Given the description of an element on the screen output the (x, y) to click on. 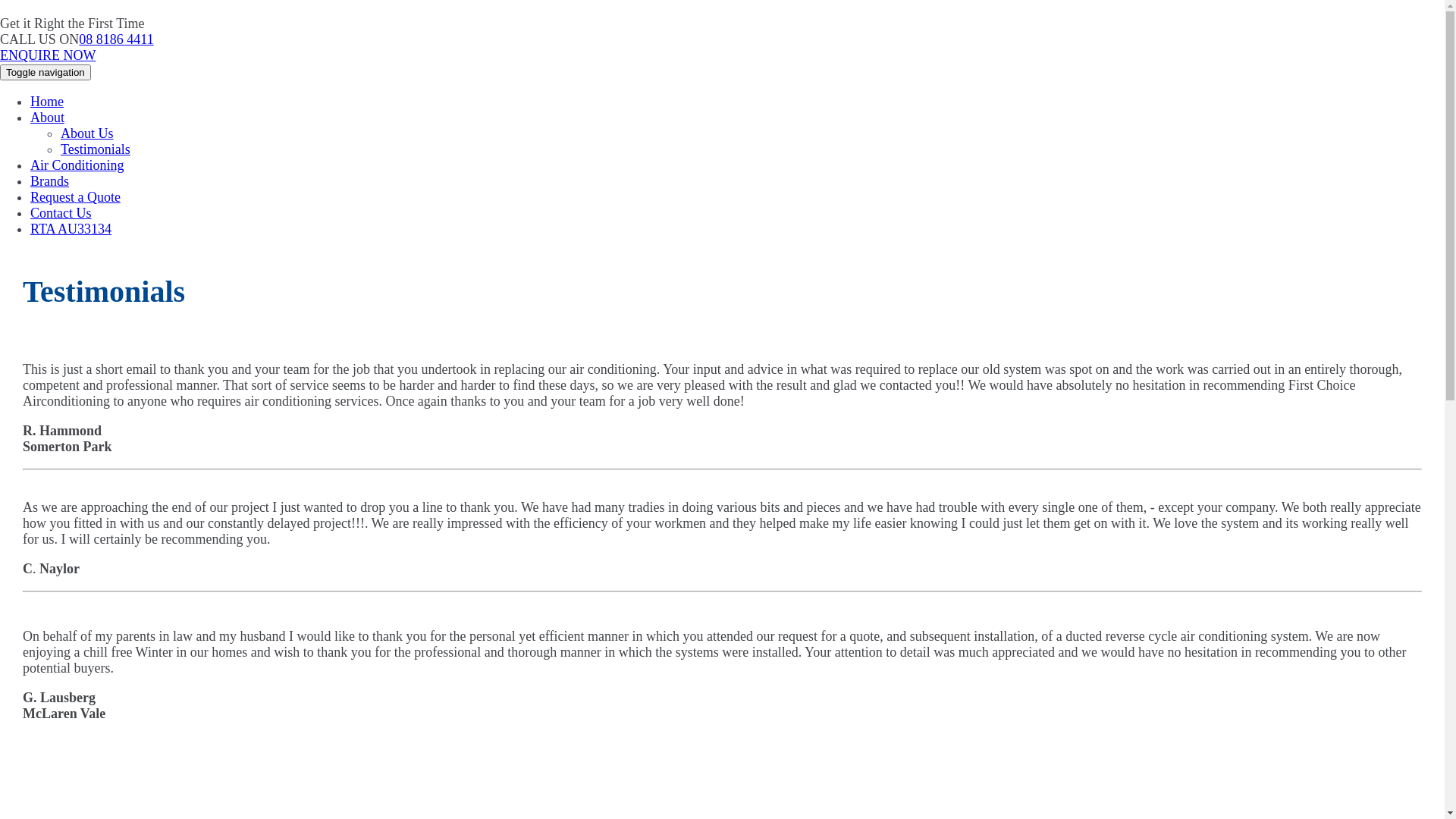
ENQUIRE NOW Element type: text (47, 54)
08 8186 4411 Element type: text (115, 39)
Testimonials Element type: text (95, 148)
Contact Us Element type: text (60, 212)
About Us Element type: text (86, 133)
Request a Quote Element type: text (75, 196)
Home Element type: text (46, 101)
Toggle navigation Element type: text (45, 72)
RTA AU33134 Element type: text (70, 228)
Brands Element type: text (49, 180)
About Element type: text (47, 117)
Air Conditioning Element type: text (77, 164)
